Given the description of an element on the screen output the (x, y) to click on. 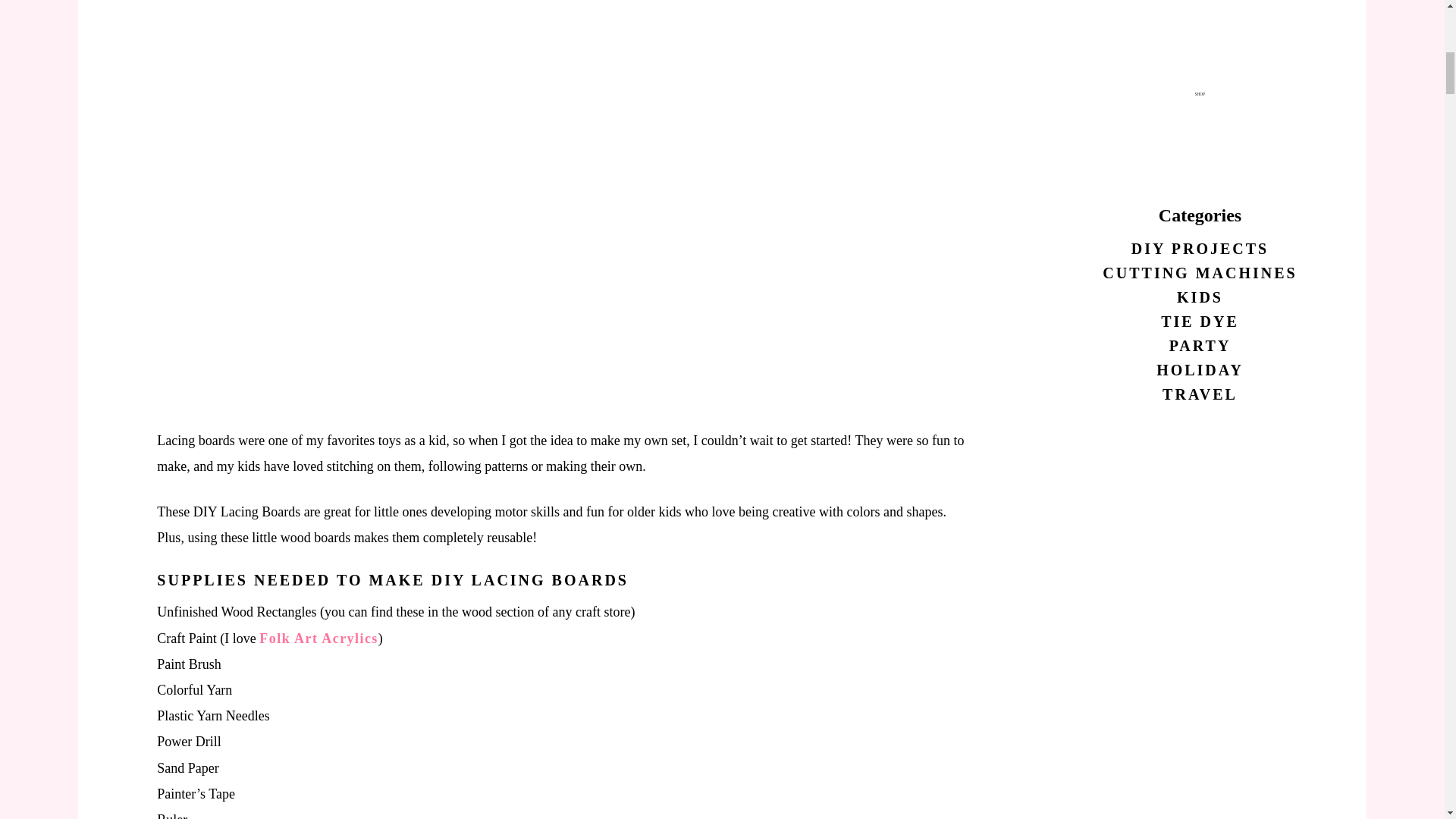
Folk Art Acrylics (318, 638)
